Given the description of an element on the screen output the (x, y) to click on. 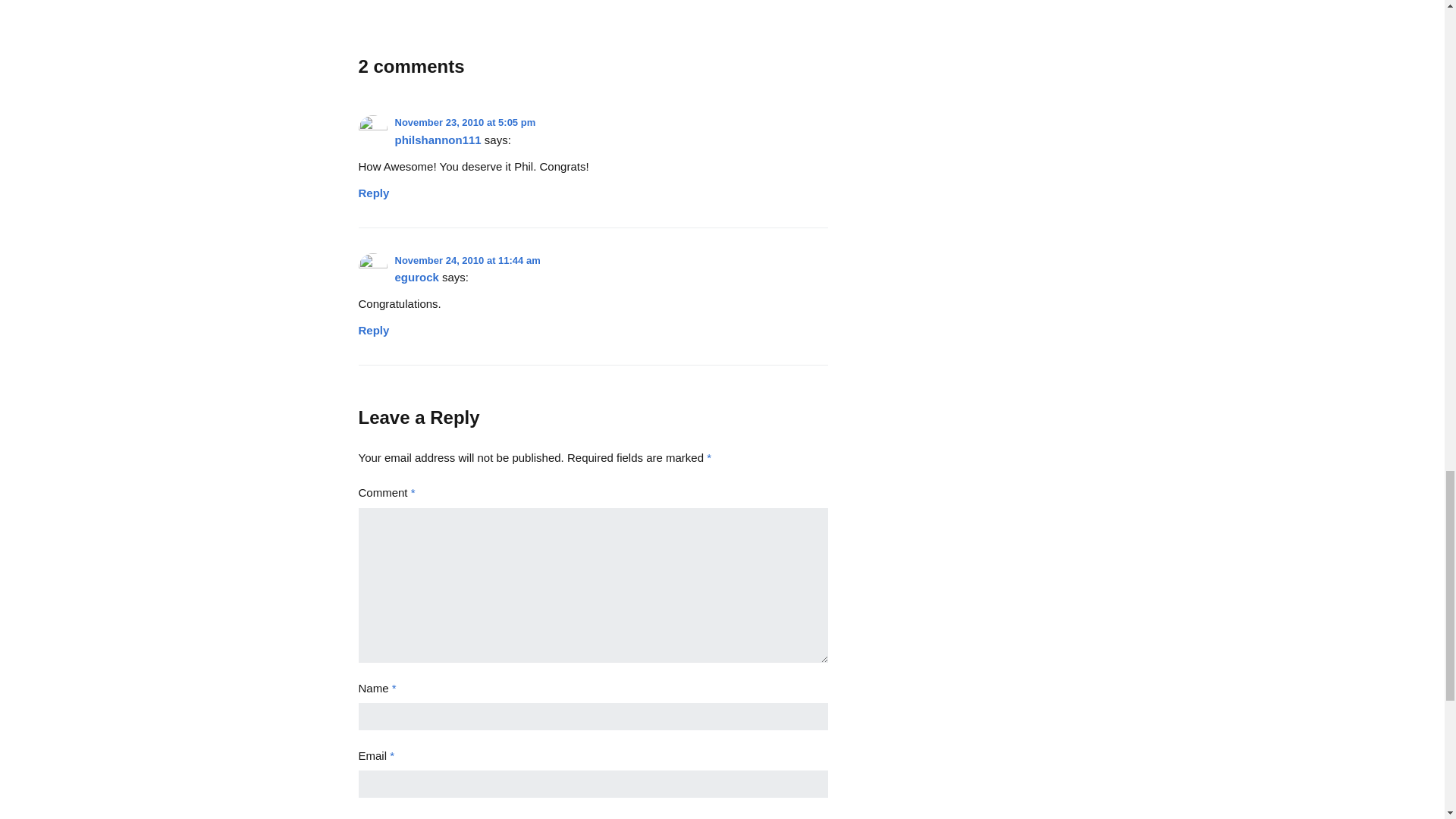
Reply (373, 188)
November 24, 2010 at 11:44 am (467, 260)
November 23, 2010 at 5:05 pm (464, 122)
philshannon111 (437, 139)
